Given the description of an element on the screen output the (x, y) to click on. 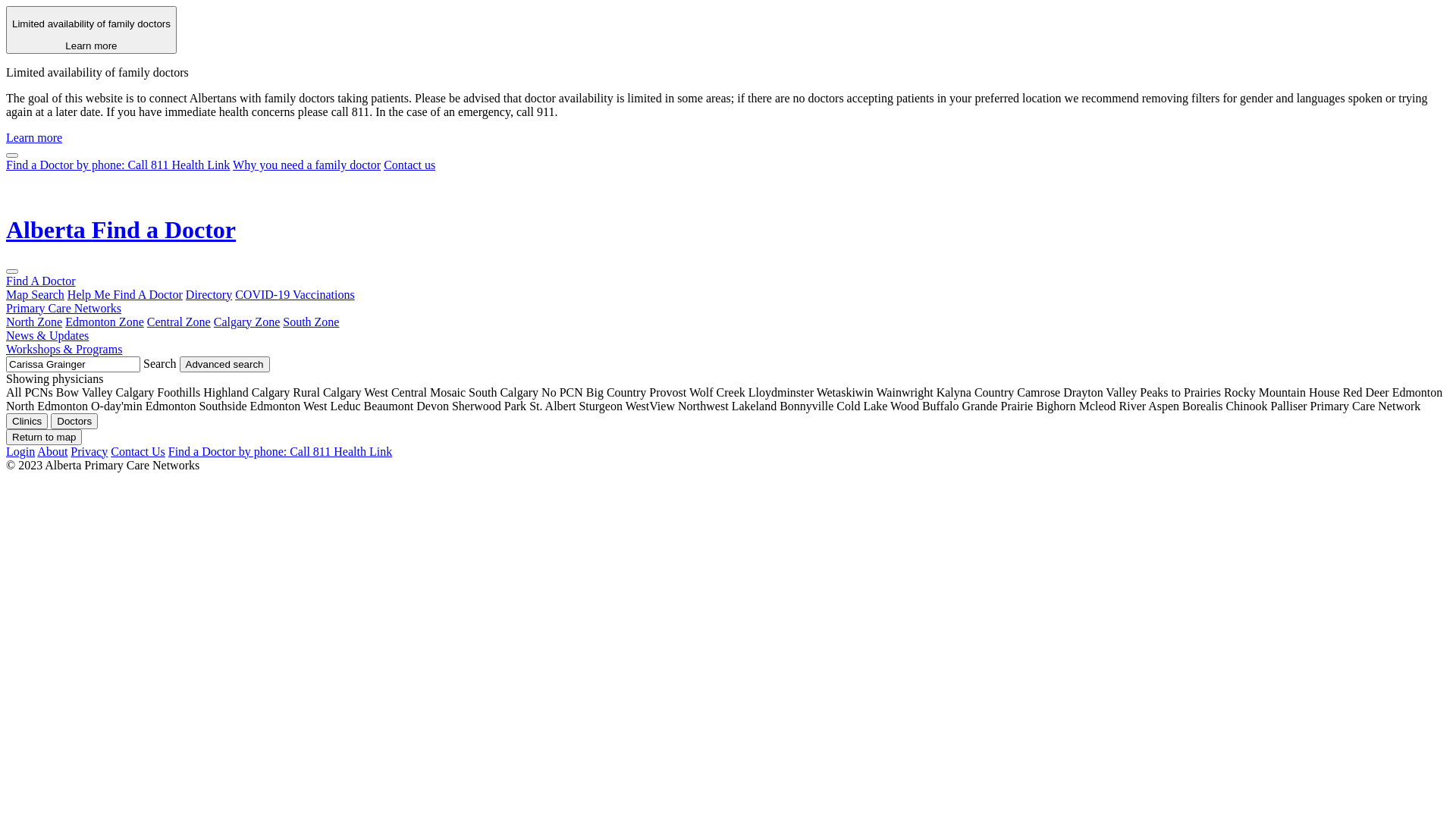
Learn more Element type: text (34, 137)
Calgary Zone Element type: text (246, 321)
Find A Doctor Element type: text (40, 280)
South Zone Element type: text (310, 321)
Limited availability of family doctors
Learn more Element type: text (91, 29)
Clinics Element type: text (26, 421)
Central Zone Element type: text (178, 321)
Return to map Element type: text (43, 437)
COVID-19 Vaccinations Element type: text (294, 294)
Edmonton Zone Element type: text (104, 321)
News & Updates Element type: text (47, 335)
Contact Us Element type: text (137, 451)
Directory Element type: text (208, 294)
Workshops & Programs Element type: text (64, 348)
North Zone Element type: text (34, 321)
Why you need a family doctor Element type: text (306, 164)
Login Element type: text (20, 451)
Help Me Find A Doctor Element type: text (124, 294)
Find a Doctor by phone: Call 811 Health Link Element type: text (280, 451)
Doctors Element type: text (73, 421)
Find a Doctor by phone: Call 811 Health Link Element type: text (117, 164)
Map Search Element type: text (35, 294)
Privacy Element type: text (88, 451)
Primary Care Networks Element type: text (63, 307)
About Element type: text (52, 451)
Alberta Find a Doctor Element type: text (727, 230)
Contact us Element type: text (409, 164)
Advanced search Element type: text (224, 364)
